Given the description of an element on the screen output the (x, y) to click on. 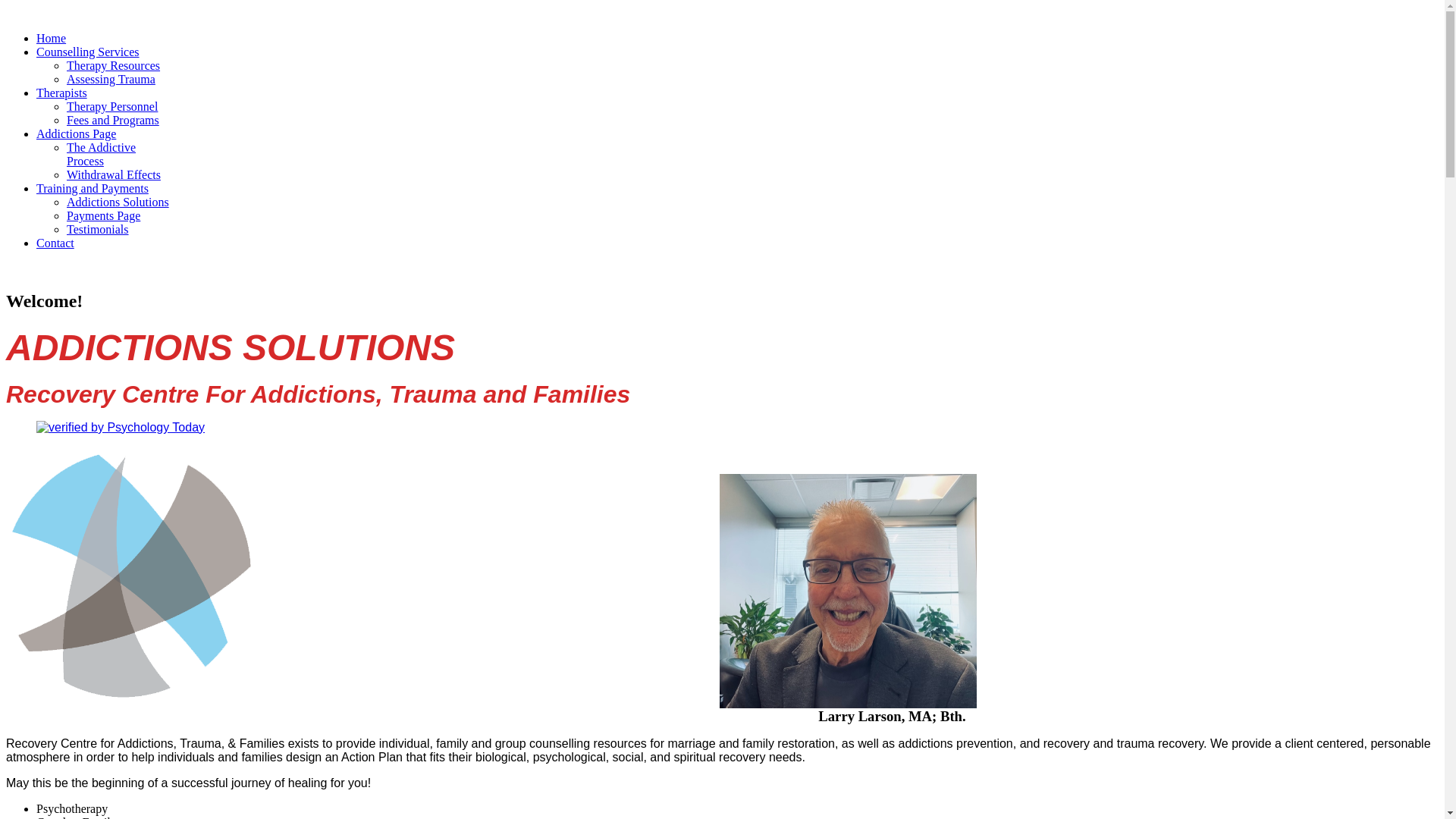
Home Element type: text (50, 37)
Training and Payments Element type: text (92, 188)
Assessing Trauma Element type: text (110, 78)
Payments Page Element type: text (103, 215)
Addictions Page Element type: text (76, 133)
Therapists Element type: text (61, 92)
Testimonials Element type: text (97, 228)
Therapy Resources Element type: text (113, 65)
Counselling Services Element type: text (87, 51)
Contact Element type: text (55, 242)
Therapy Personnel Element type: text (111, 106)
Fees and Programs Element type: text (112, 119)
Withdrawal Effects Element type: text (113, 174)
Addictions Solutions Element type: text (117, 201)
The Addictive Process Element type: text (100, 154)
verified by Psychology Today Element type: hover (120, 426)
